Given the description of an element on the screen output the (x, y) to click on. 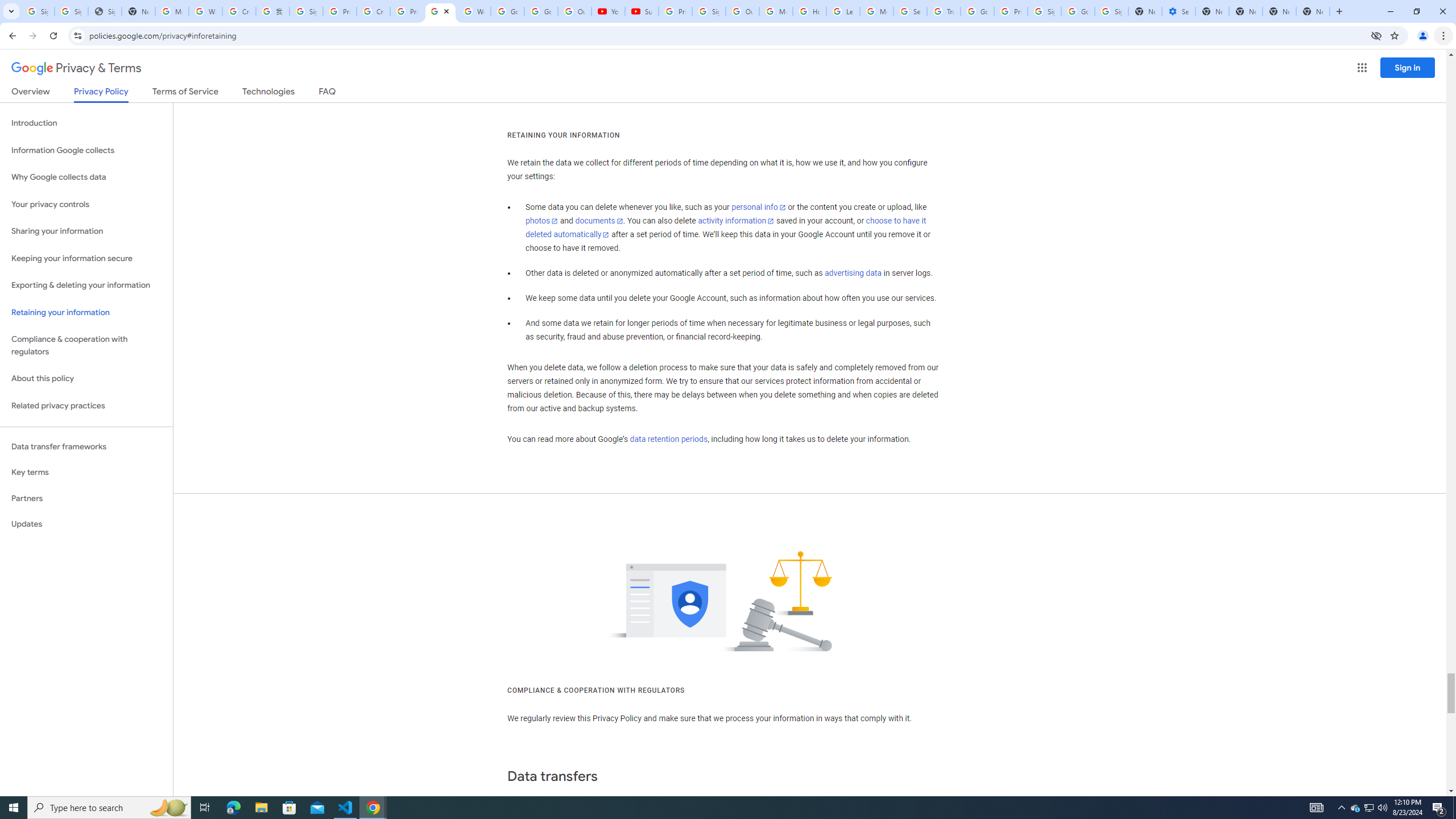
Why Google collects data (86, 176)
Keeping your information secure (86, 258)
Your privacy controls (86, 204)
Trusted Information and Content - Google Safety Center (943, 11)
Sign in - Google Accounts (71, 11)
Settings - Performance (1179, 11)
Sharing your information (86, 230)
